Given the description of an element on the screen output the (x, y) to click on. 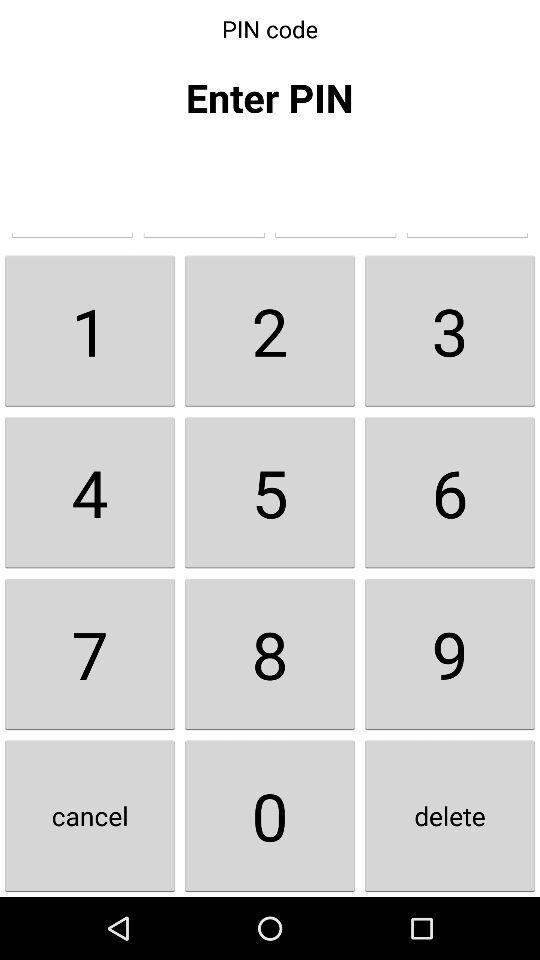
turn off item above the cancel icon (90, 654)
